Given the description of an element on the screen output the (x, y) to click on. 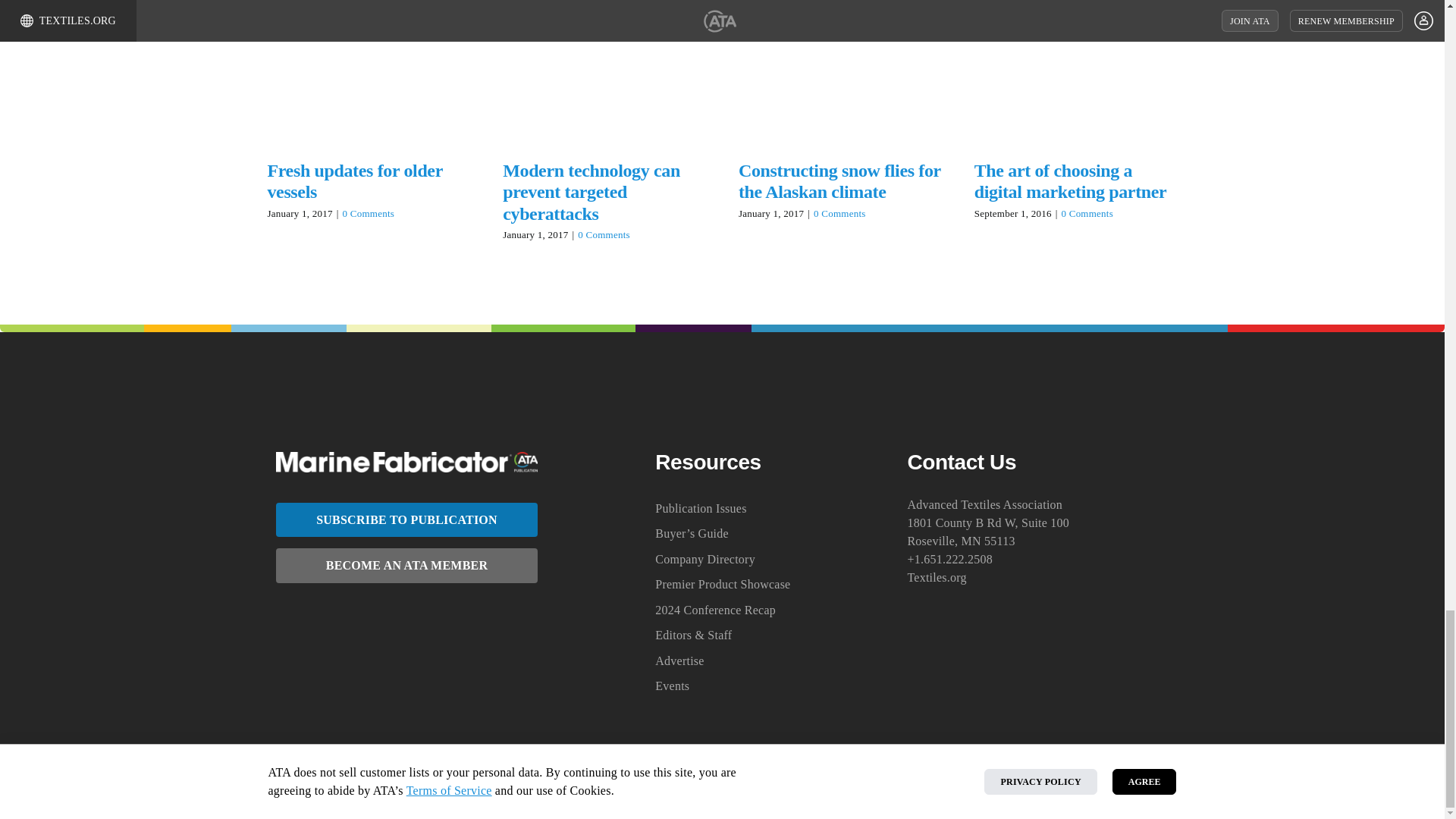
Modern technology can prevent targeted cyberattacks (590, 192)
The art of choosing a digital marketing partner (1070, 181)
0 Comments (368, 213)
Fresh updates for older vessels (354, 181)
Constructing snow flies for the Alaskan climate (839, 181)
Fresh updates for older vessels (354, 181)
